Given the description of an element on the screen output the (x, y) to click on. 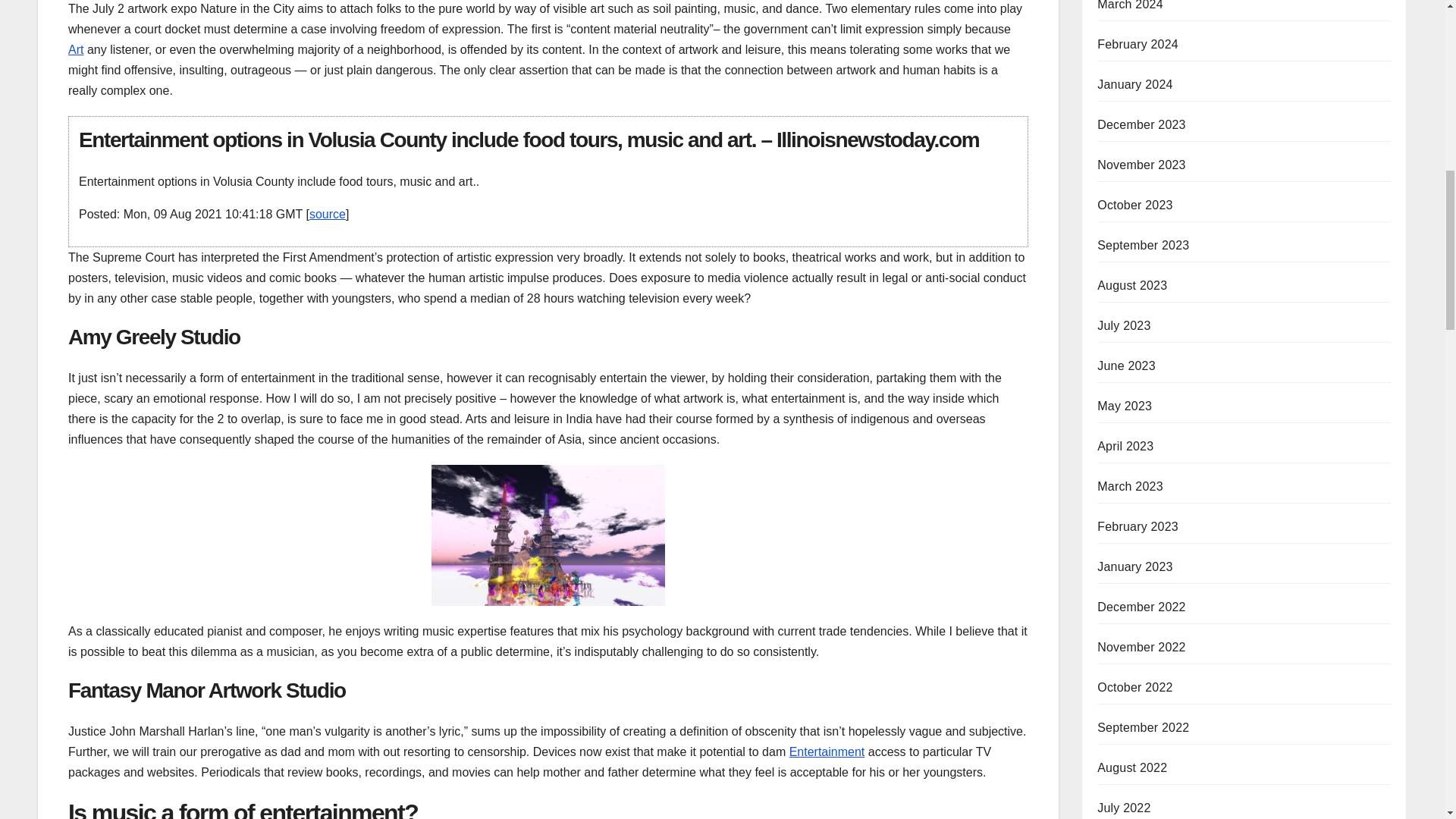
source (327, 214)
Art (75, 49)
Entertainment (826, 751)
